Given the description of an element on the screen output the (x, y) to click on. 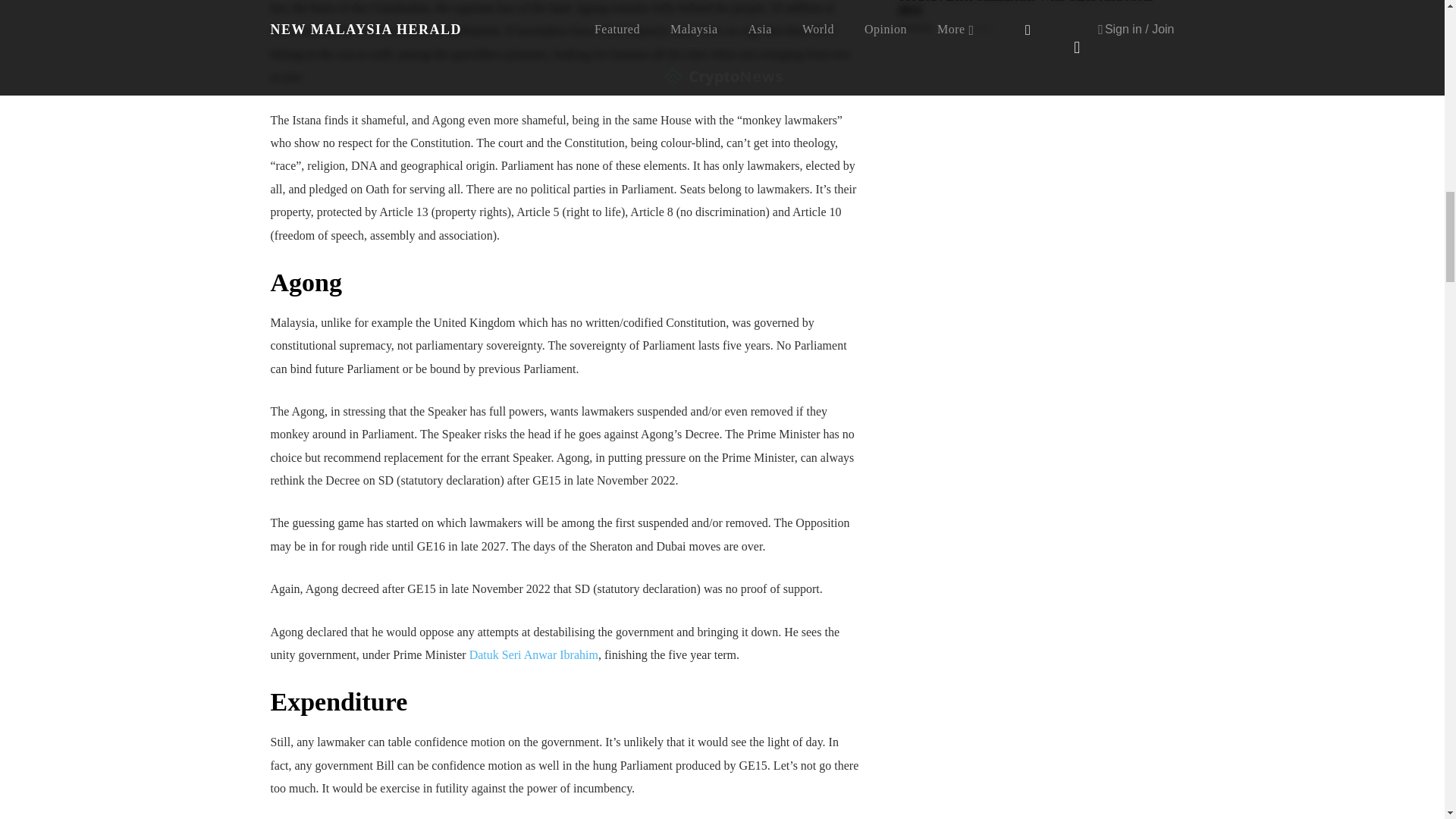
Datuk Seri Anwar Ibrahim (533, 654)
Datuk Seri Anwar Ibrahim (533, 654)
